Given the description of an element on the screen output the (x, y) to click on. 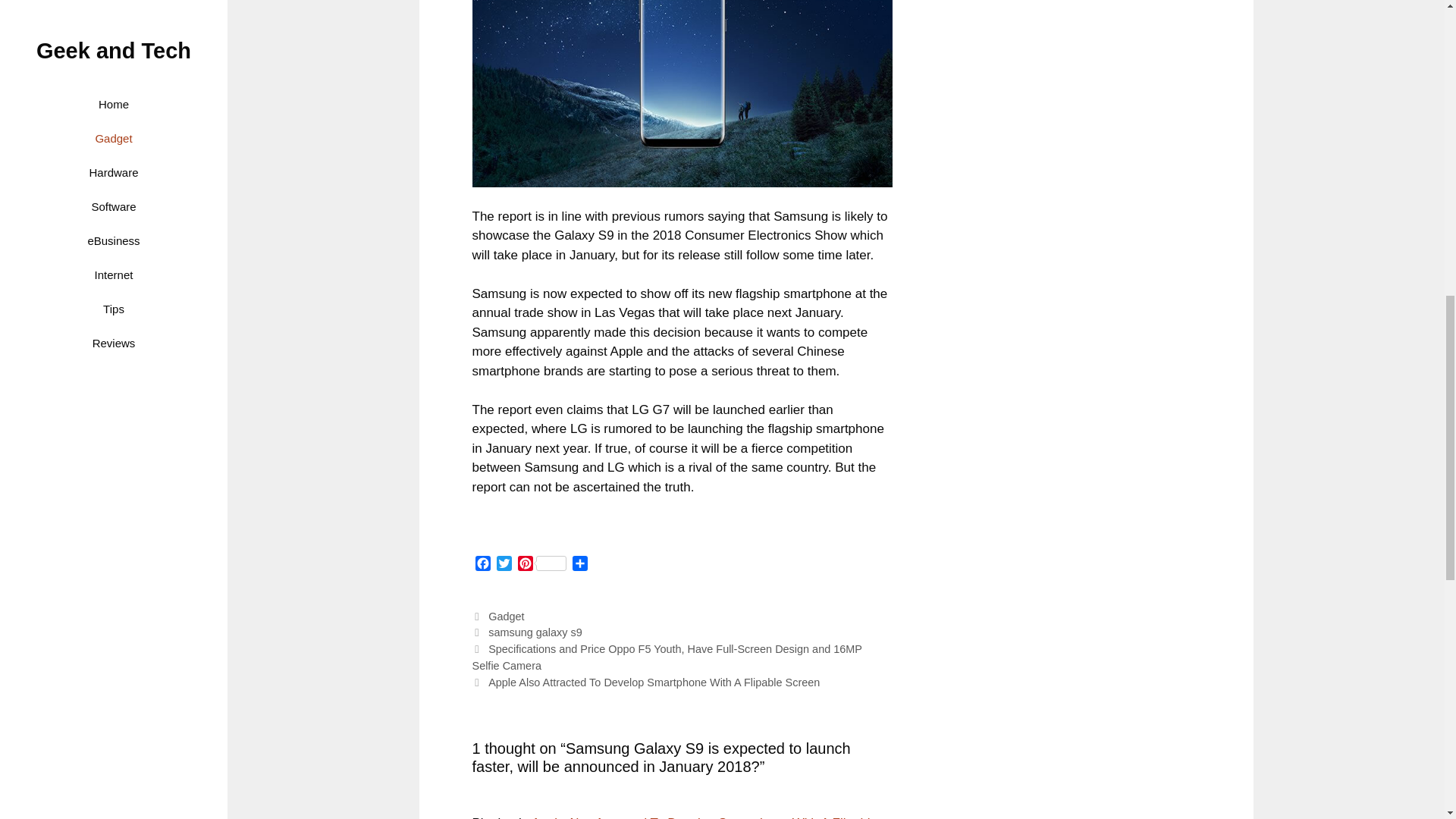
Facebook (482, 565)
Twitter (503, 565)
Share (579, 565)
samsung galaxy s9 (534, 632)
Facebook (482, 565)
Previous (666, 656)
Gadget (505, 616)
Pinterest (541, 565)
Next (645, 682)
Pinterest (541, 565)
Twitter (503, 565)
